Given the description of an element on the screen output the (x, y) to click on. 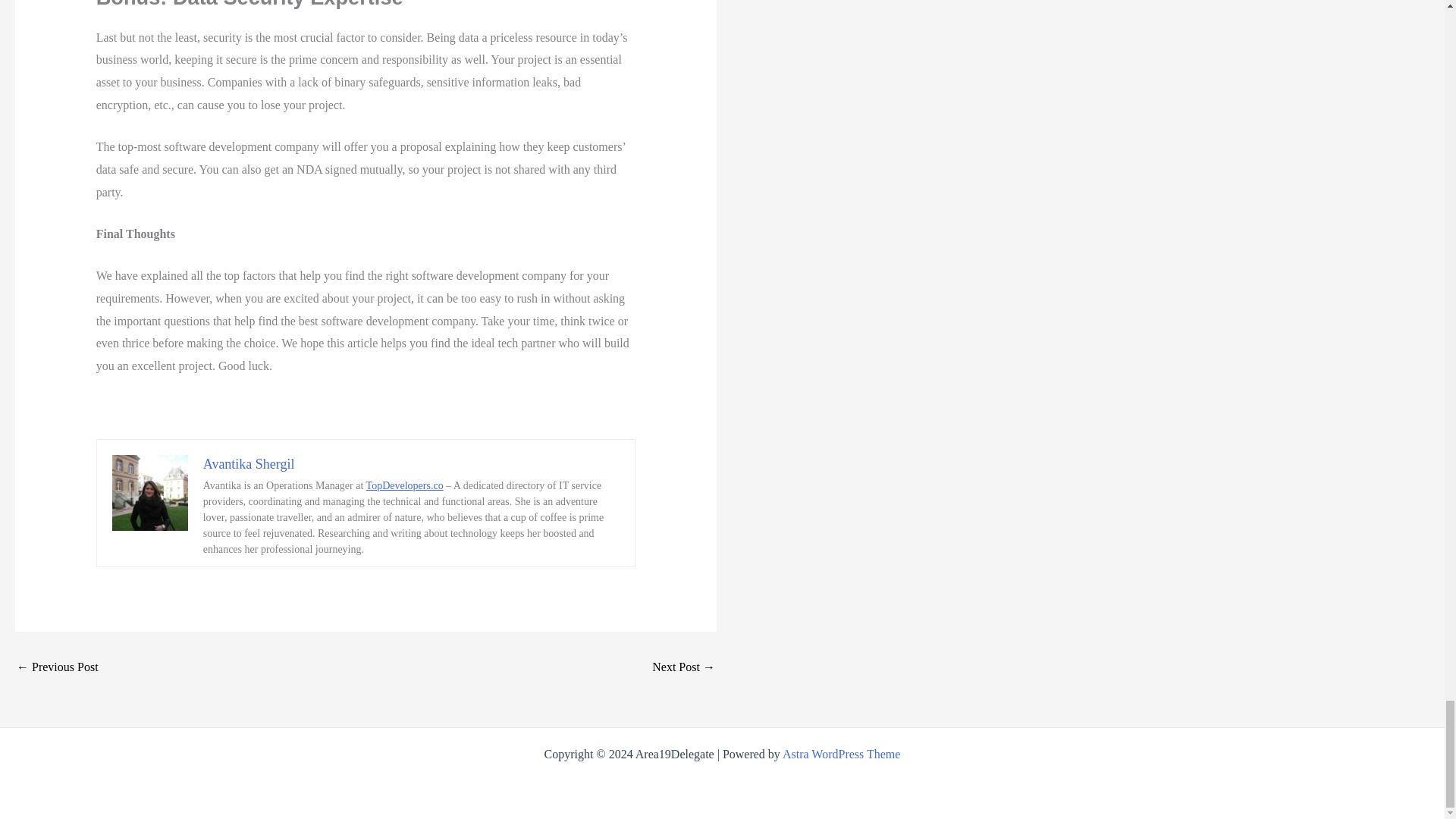
Best Content Marketing Platforms for 2023 (57, 666)
8 Epic Product Description Tips to Increase Your Sales (683, 666)
TopDevelopers.co (405, 485)
Avantika Shergil (249, 462)
